Given the description of an element on the screen output the (x, y) to click on. 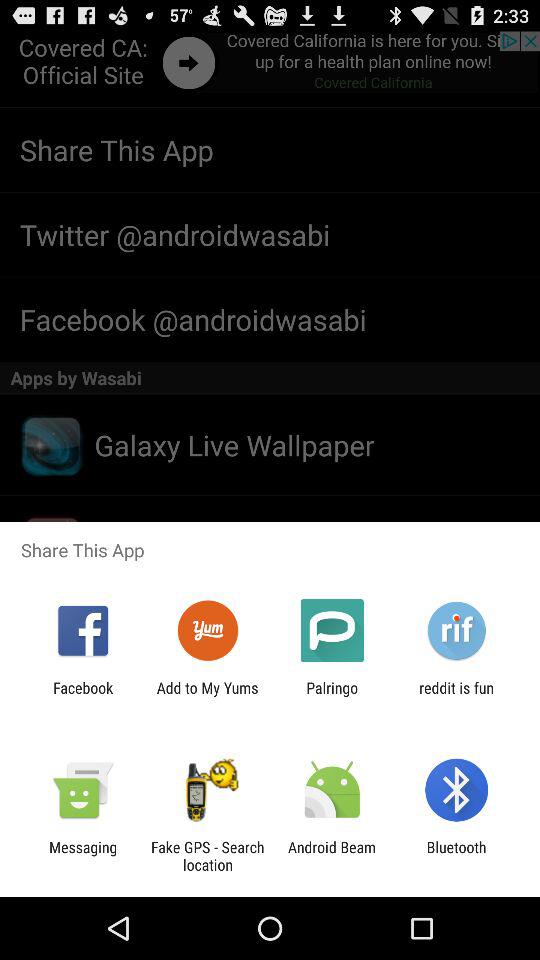
open the icon to the left of the android beam icon (207, 856)
